Given the description of an element on the screen output the (x, y) to click on. 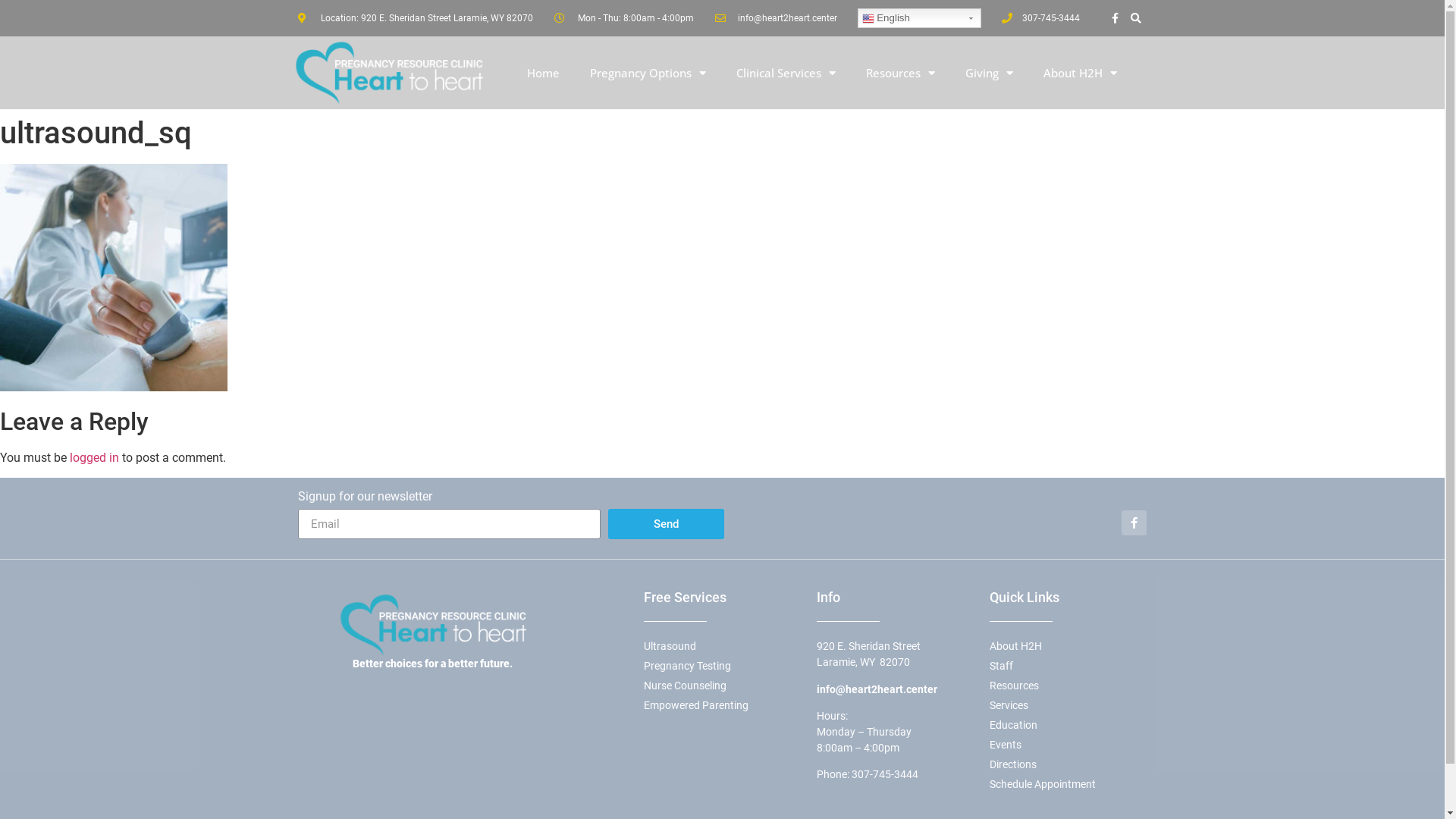
Directions Element type: text (1067, 764)
Staff Element type: text (1067, 666)
Resources Element type: text (1067, 685)
Schedule Appointment Element type: text (1067, 784)
logged in Element type: text (94, 457)
info@heart2heart.center Element type: text (875, 689)
Clinical Services Element type: text (785, 72)
307-745-3444 Element type: text (883, 774)
Giving Element type: text (989, 72)
info@heart2heart.center Element type: text (775, 18)
Events Element type: text (1067, 745)
Empowered Parenting Element type: text (721, 705)
Services Element type: text (1067, 705)
English Element type: text (918, 17)
About H2H Element type: text (1067, 646)
Pregnancy Options Element type: text (647, 72)
Ultrasound Element type: text (721, 646)
Nurse Counseling Element type: text (721, 685)
Education Element type: text (1067, 725)
Send Element type: text (666, 523)
About H2H Element type: text (1080, 72)
Pregnancy Testing Element type: text (721, 666)
Home Element type: text (542, 72)
Resources Element type: text (900, 72)
